Given the description of an element on the screen output the (x, y) to click on. 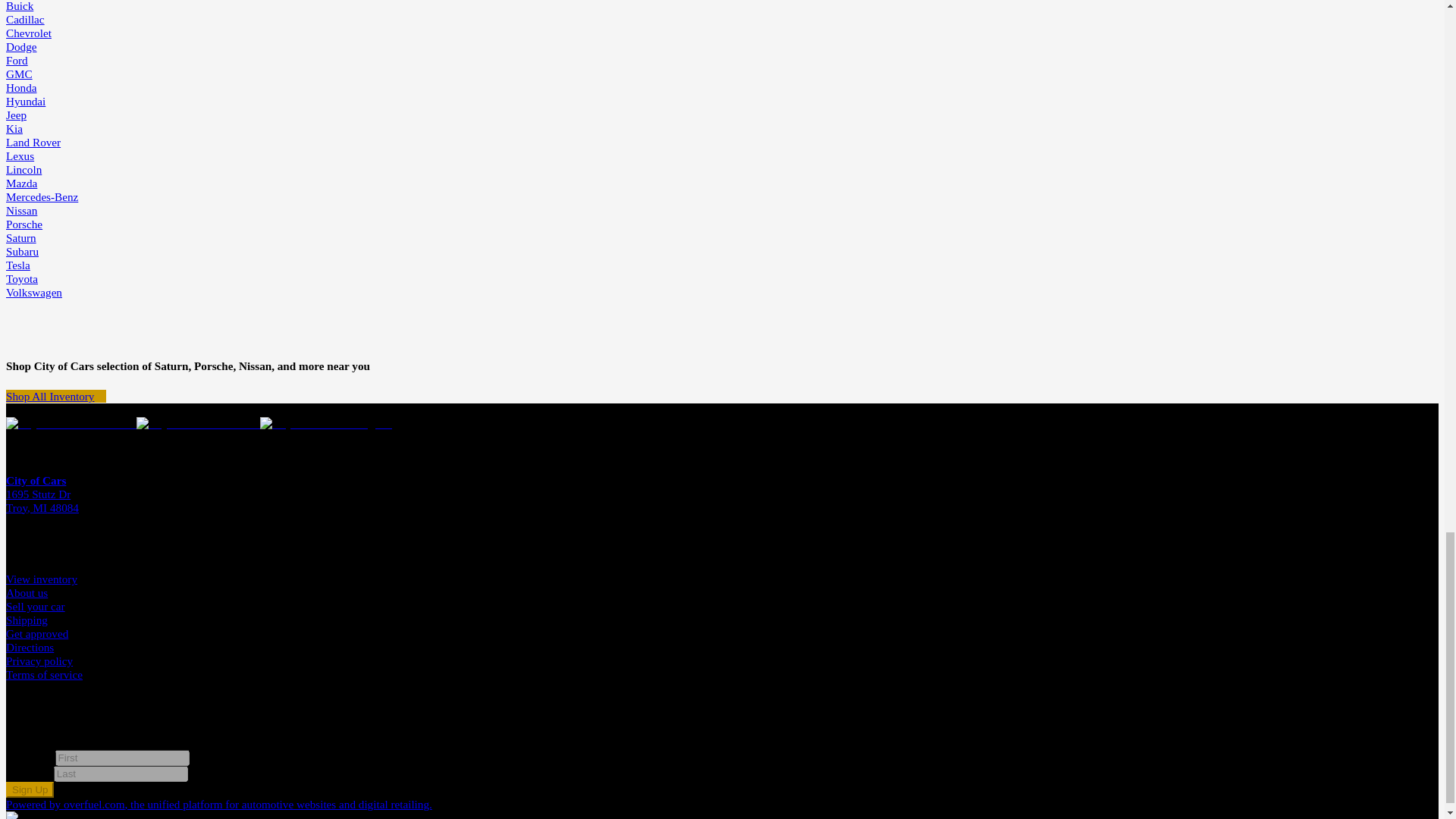
Hyundai (25, 101)
Jeep (15, 114)
Honda (21, 87)
Mazda (21, 182)
Lincoln (23, 169)
Lexus (19, 155)
Saturn (20, 237)
Kia (14, 128)
Nissan (21, 210)
Ford (16, 60)
